Given the description of an element on the screen output the (x, y) to click on. 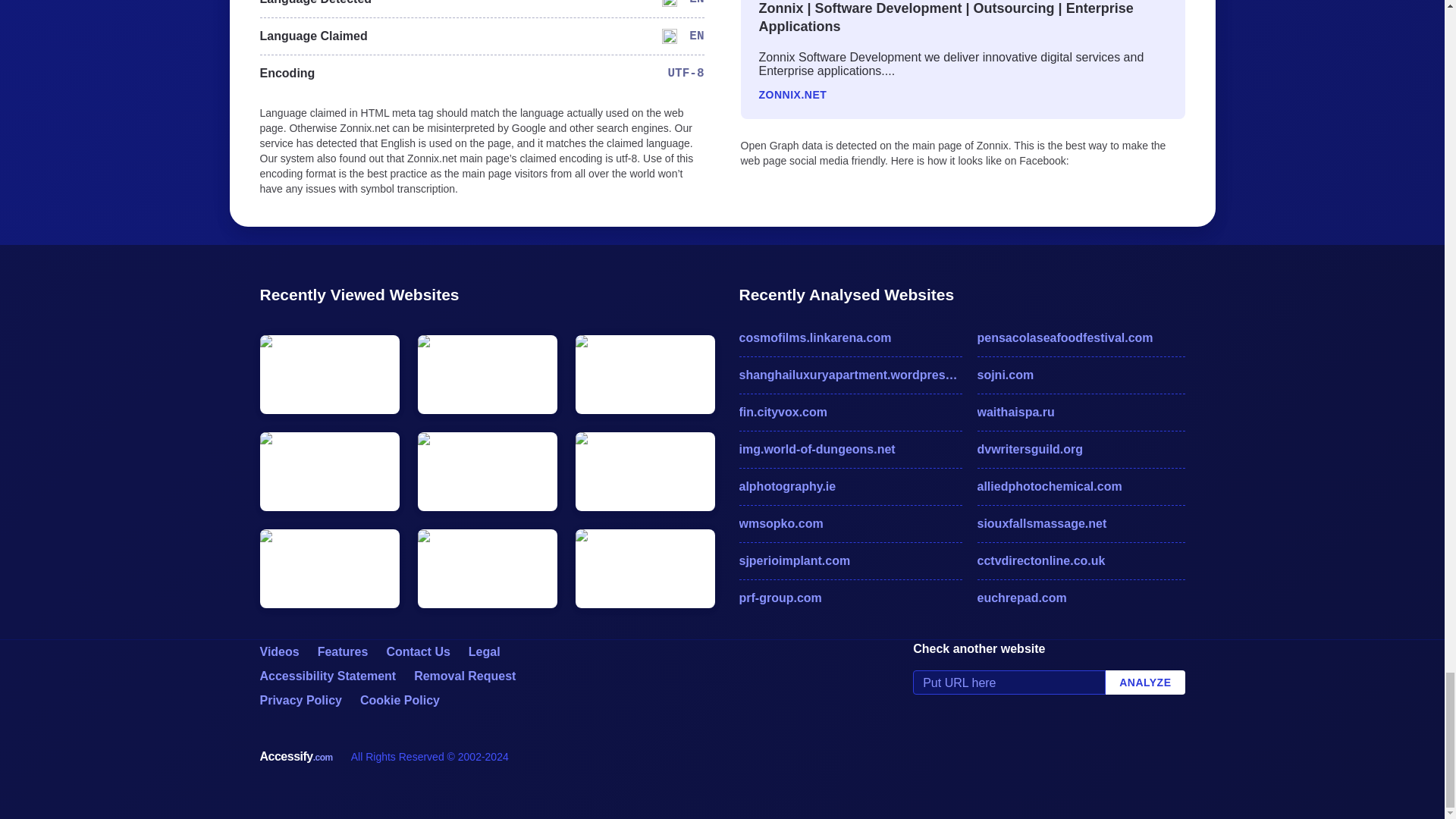
cosmofilms.linkarena.com (849, 338)
cctvdirectonline.co.uk (1080, 561)
siouxfallsmassage.net (1080, 524)
shanghailuxuryapartment.wordpress.com (849, 375)
pensacolaseafoodfestival.com (1080, 338)
Videos (278, 651)
Screencasts: video tutorials and guides (278, 651)
alliedphotochemical.com (1080, 486)
Features (342, 651)
dvwritersguild.org (1080, 449)
prf-group.com (849, 597)
euchrepad.com (1080, 597)
sojni.com (1080, 375)
sjperioimplant.com (849, 561)
Legal (484, 651)
